Given the description of an element on the screen output the (x, y) to click on. 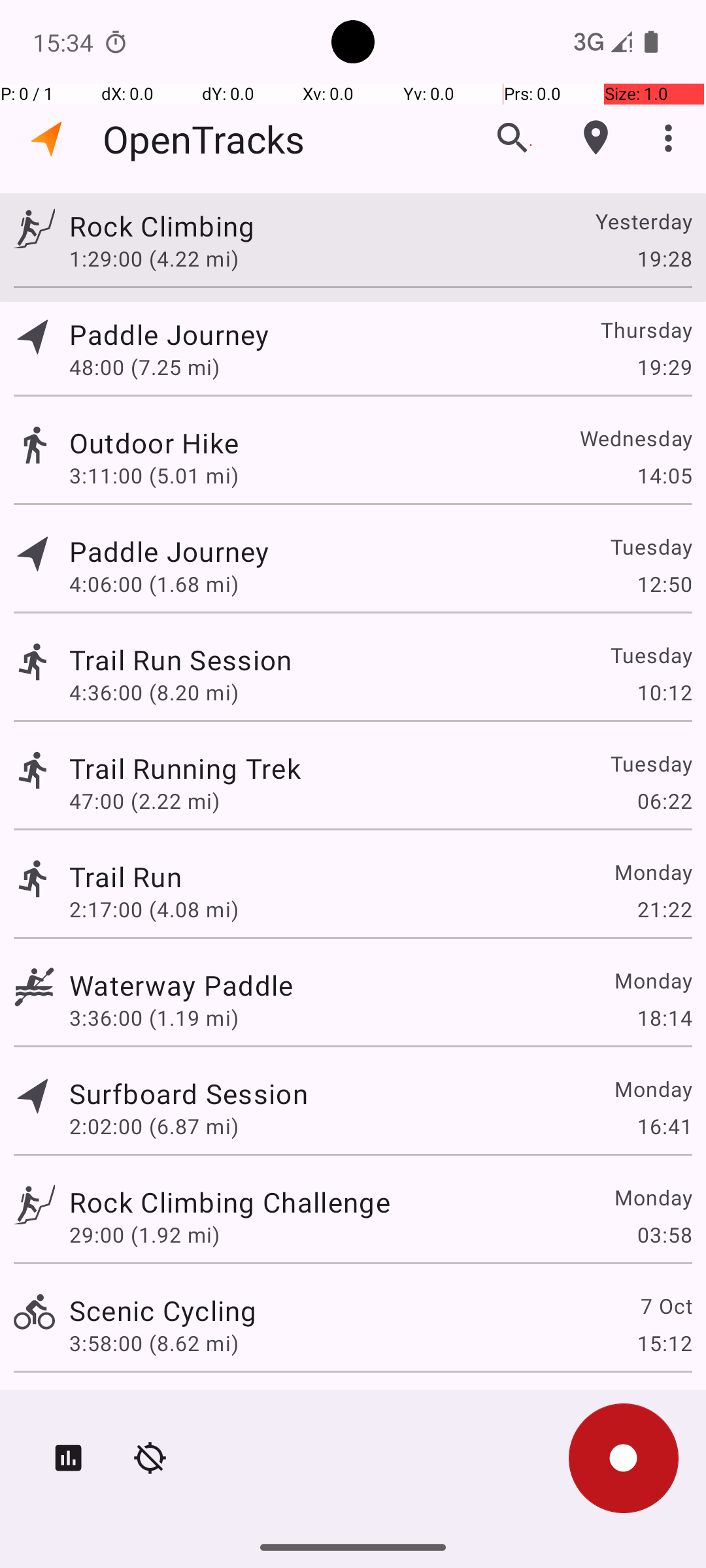
Rock Climbing Element type: android.widget.TextView (161, 225)
1:29:00 (4.22 mi) Element type: android.widget.TextView (153, 258)
19:28 Element type: android.widget.TextView (664, 258)
Paddle Journey Element type: android.widget.TextView (168, 333)
48:00 (7.25 mi) Element type: android.widget.TextView (144, 366)
19:29 Element type: android.widget.TextView (664, 366)
Outdoor Hike Element type: android.widget.TextView (153, 442)
3:11:00 (5.01 mi) Element type: android.widget.TextView (153, 475)
14:05 Element type: android.widget.TextView (664, 475)
4:06:00 (1.68 mi) Element type: android.widget.TextView (153, 583)
12:50 Element type: android.widget.TextView (664, 583)
Trail Run Session Element type: android.widget.TextView (180, 659)
4:36:00 (8.20 mi) Element type: android.widget.TextView (153, 692)
10:12 Element type: android.widget.TextView (664, 692)
Trail Running Trek Element type: android.widget.TextView (184, 767)
47:00 (2.22 mi) Element type: android.widget.TextView (144, 800)
06:22 Element type: android.widget.TextView (664, 800)
Trail Run Element type: android.widget.TextView (125, 876)
2:17:00 (4.08 mi) Element type: android.widget.TextView (153, 909)
21:22 Element type: android.widget.TextView (664, 909)
Waterway Paddle Element type: android.widget.TextView (180, 984)
3:36:00 (1.19 mi) Element type: android.widget.TextView (153, 1017)
18:14 Element type: android.widget.TextView (664, 1017)
Surfboard Session Element type: android.widget.TextView (188, 1092)
2:02:00 (6.87 mi) Element type: android.widget.TextView (153, 1125)
16:41 Element type: android.widget.TextView (664, 1125)
Rock Climbing Challenge Element type: android.widget.TextView (229, 1201)
29:00 (1.92 mi) Element type: android.widget.TextView (144, 1234)
03:58 Element type: android.widget.TextView (664, 1234)
3:58:00 (8.62 mi) Element type: android.widget.TextView (153, 1342)
15:12 Element type: android.widget.TextView (664, 1342)
Power Walk Element type: android.widget.TextView (144, 1408)
